Given the description of an element on the screen output the (x, y) to click on. 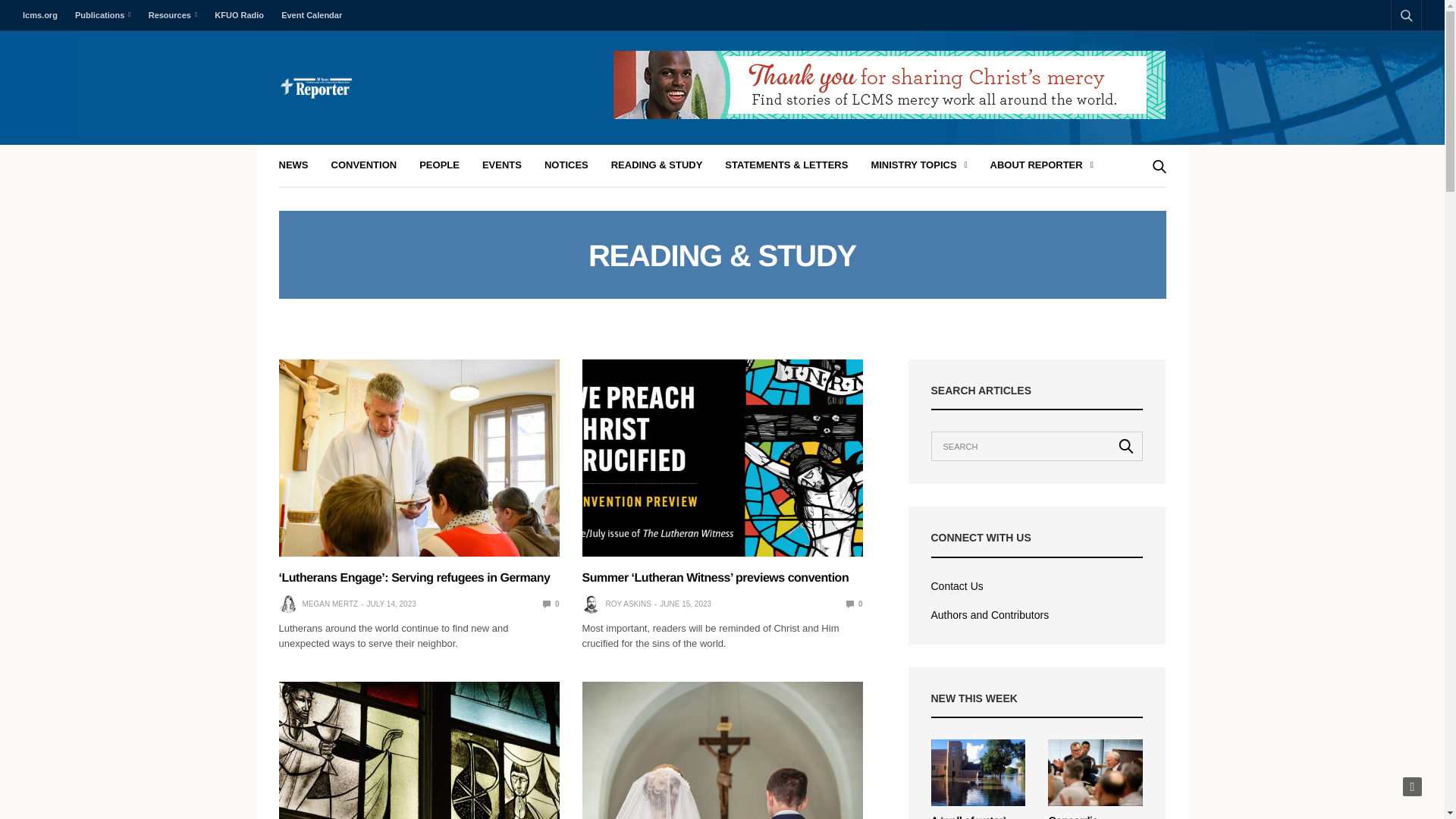
Search (1125, 445)
Posts by Megan Mertz (329, 604)
Posts by Roy Askins (627, 604)
